Given the description of an element on the screen output the (x, y) to click on. 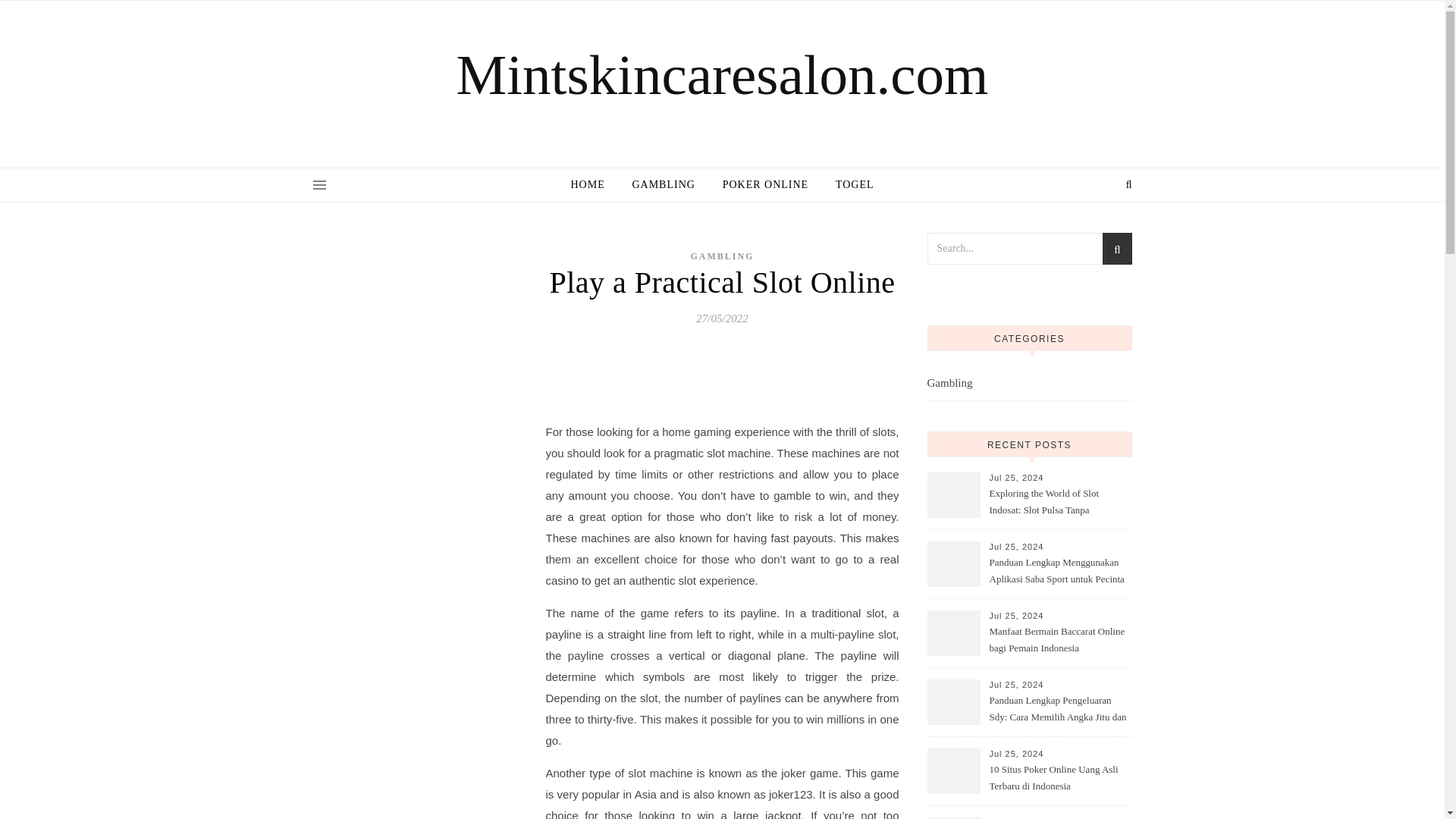
Manfaat Bermain Baccarat Online bagi Pemain Indonesia (1058, 640)
GAMBLING (722, 255)
10 Situs Poker Online Uang Asli Terbaru di Indonesia (1058, 778)
TOGEL (849, 184)
GAMBLING (663, 184)
POKER ONLINE (765, 184)
Gambling (949, 383)
HOME (592, 184)
Mintskincaresalon.com (722, 74)
